Given the description of an element on the screen output the (x, y) to click on. 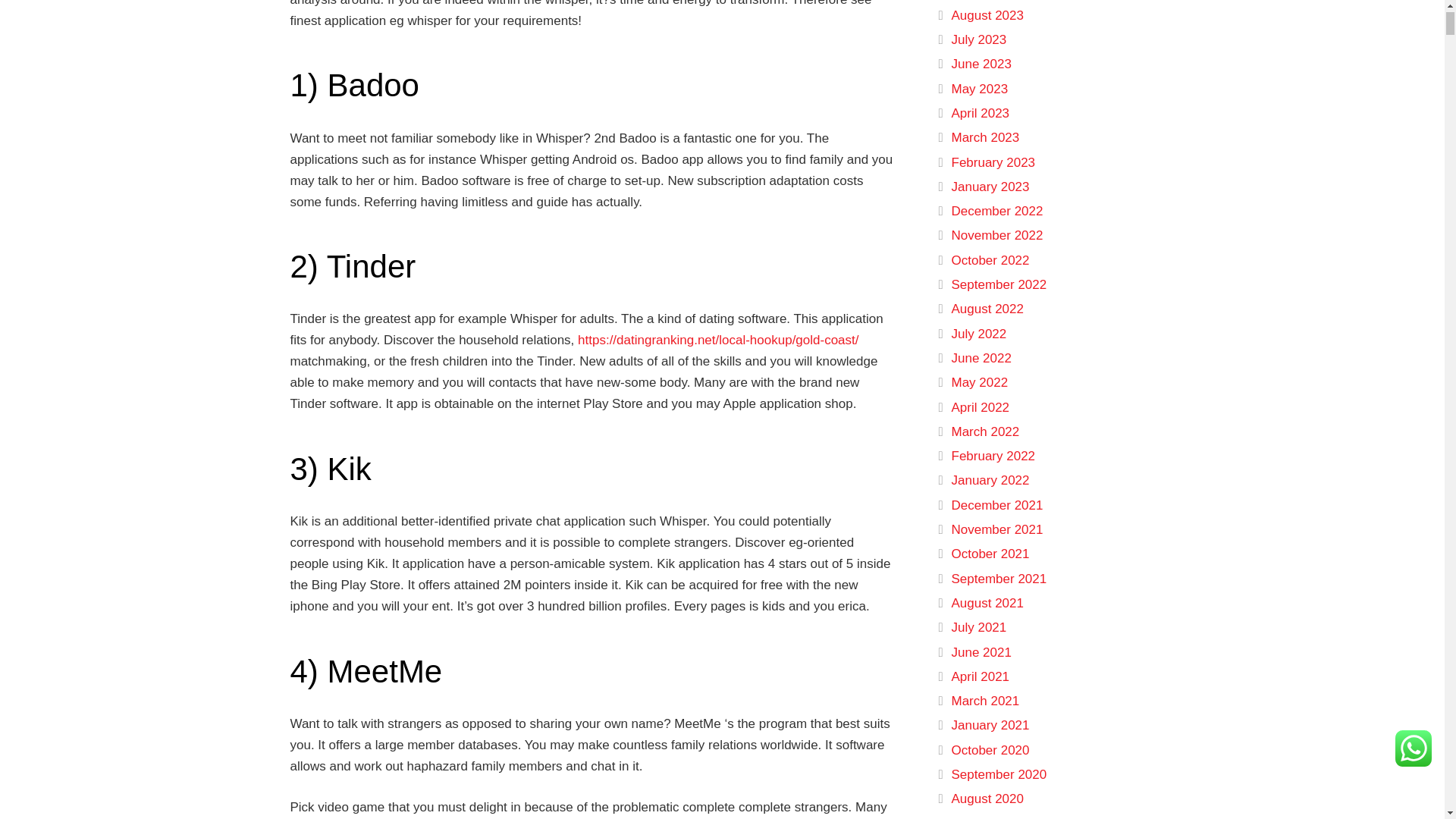
May 2023 (978, 88)
November 2022 (996, 235)
June 2023 (980, 63)
April 2023 (979, 113)
August 2023 (986, 15)
January 2023 (989, 186)
July 2023 (978, 39)
March 2023 (984, 137)
February 2023 (992, 162)
Back to top (1413, 34)
